Given the description of an element on the screen output the (x, y) to click on. 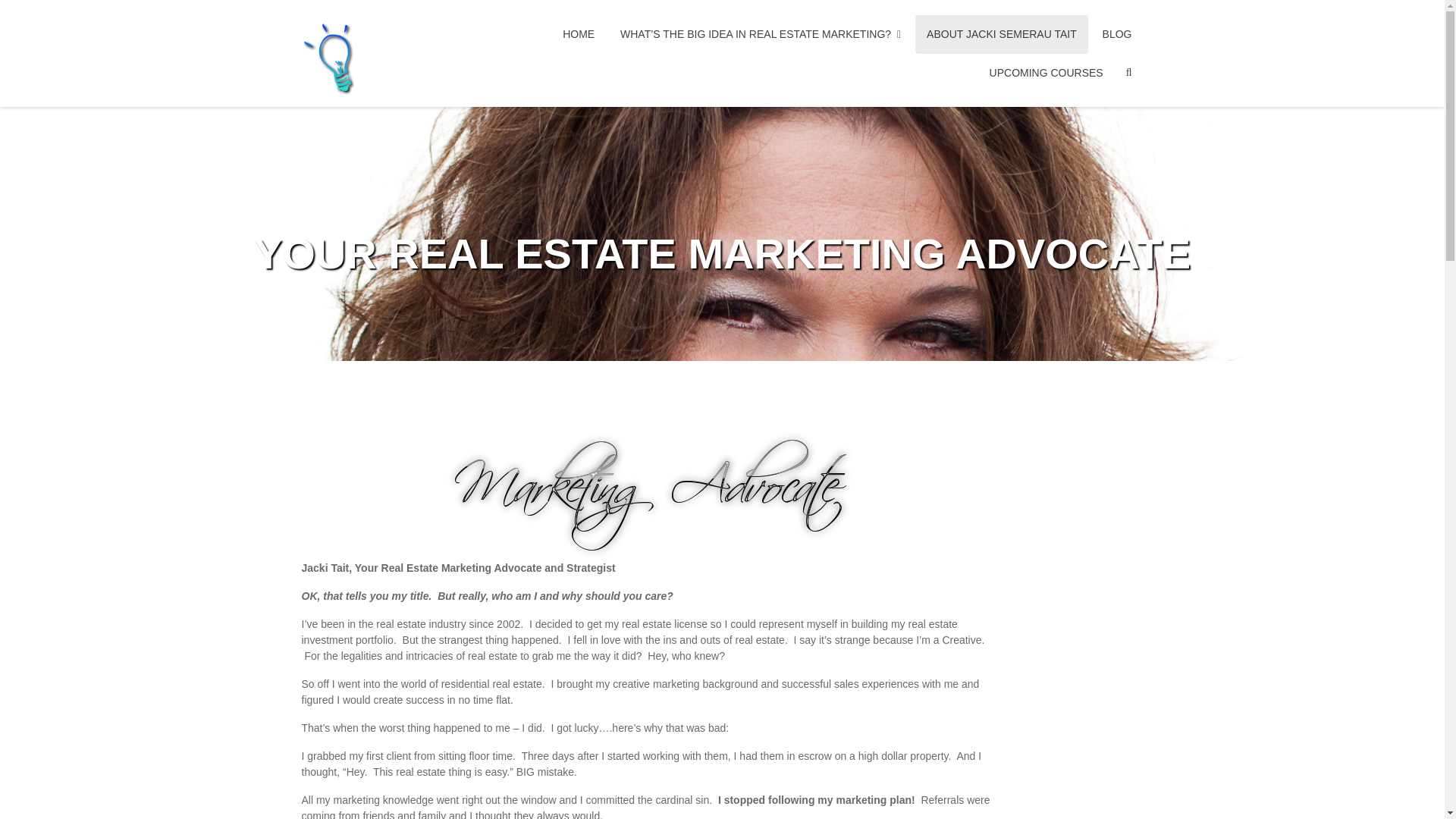
What's the Big IDEA in Real Estate Marketing? (760, 34)
Home (578, 34)
Internet Marketing in Real Estate (699, 66)
Blog (1116, 34)
BLOG (1116, 34)
About Jacki Semerau Tait (1001, 34)
HOME (578, 34)
UPCOMING COURSES (1046, 72)
Upcoming Courses (1046, 72)
Internet Marketing in Real Estate (699, 66)
ABOUT JACKI SEMERAU TAIT (1001, 34)
